Given the description of an element on the screen output the (x, y) to click on. 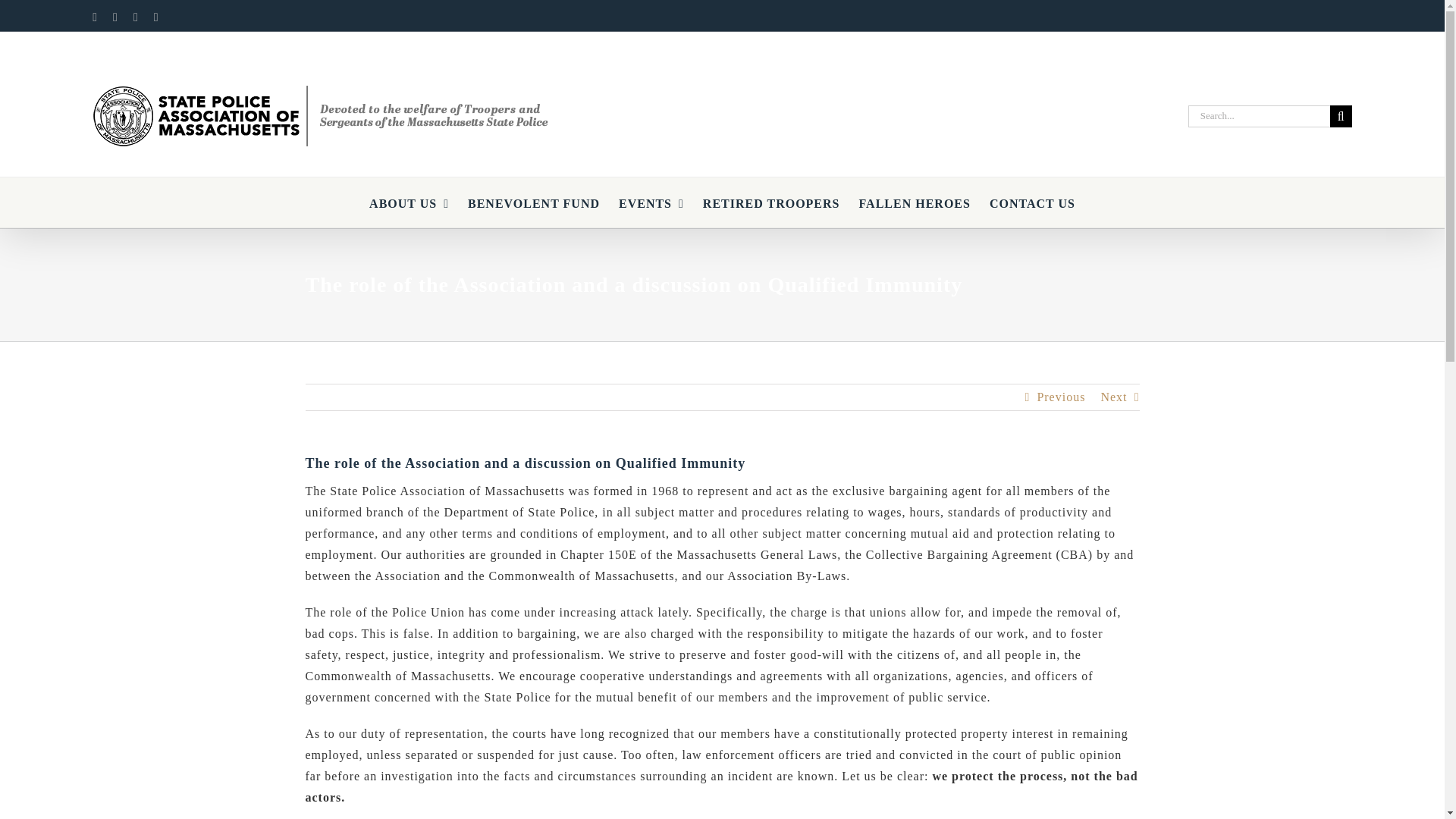
FALLEN HEROES (914, 202)
ABOUT US (408, 202)
RETIRED TROOPERS (771, 202)
EVENTS (651, 202)
BENEVOLENT FUND (533, 202)
CONTACT US (1032, 202)
